Given the description of an element on the screen output the (x, y) to click on. 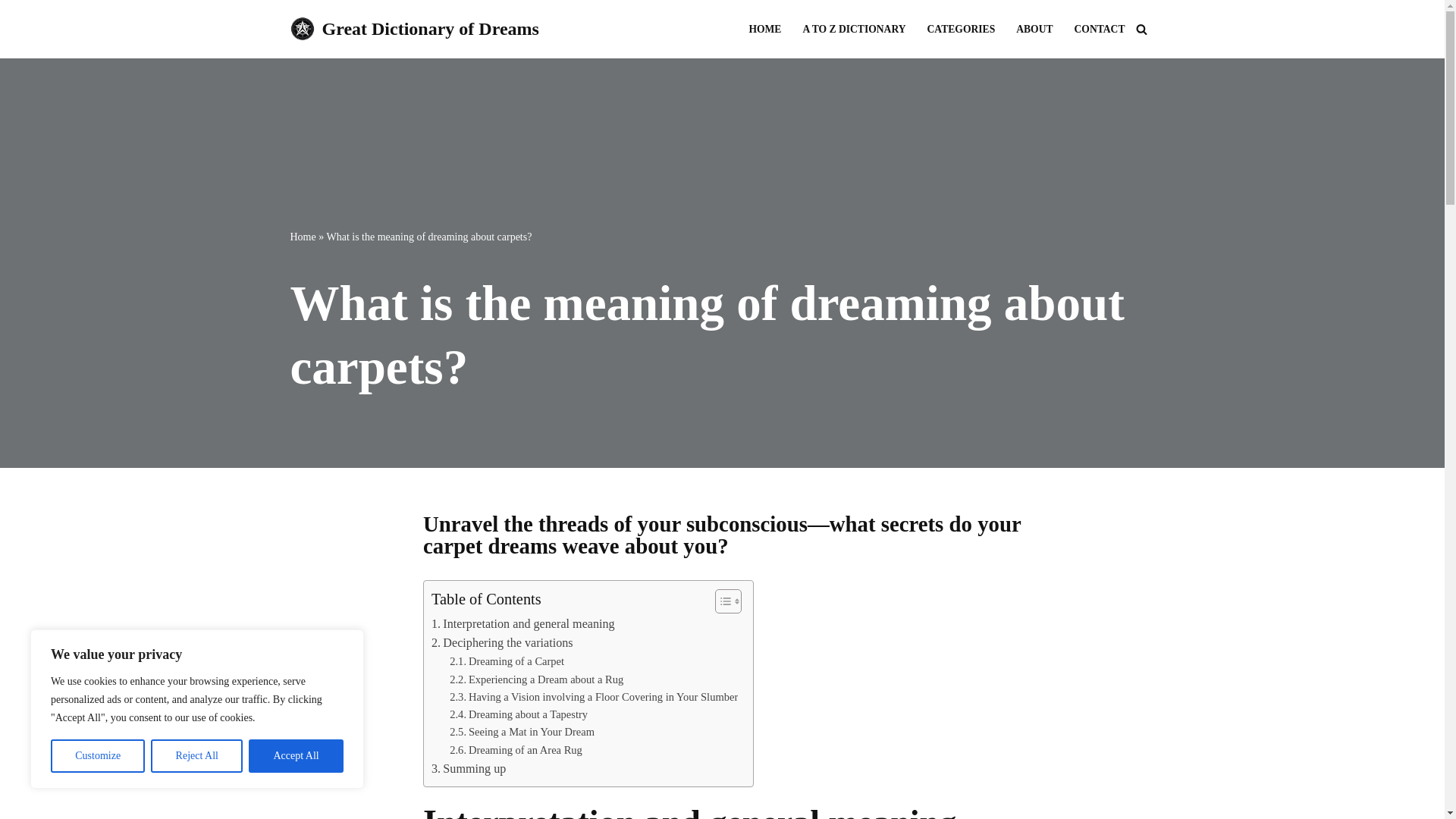
A TO Z DICTIONARY (853, 28)
Deciphering the variations (501, 642)
Home (302, 236)
Deciphering the variations (501, 642)
CONTACT (1099, 28)
Having a Vision involving a Floor Covering in Your Slumber (593, 696)
Dreaming of a Carpet (506, 661)
Seeing a Mat in Your Dream (521, 732)
Dreaming of an Area Rug (515, 750)
Experiencing a Dream about a Rug (536, 679)
CATEGORIES (961, 28)
Interpretation and general meaning (522, 623)
Summing up (467, 768)
Dreaming about a Tapestry (518, 714)
